Given the description of an element on the screen output the (x, y) to click on. 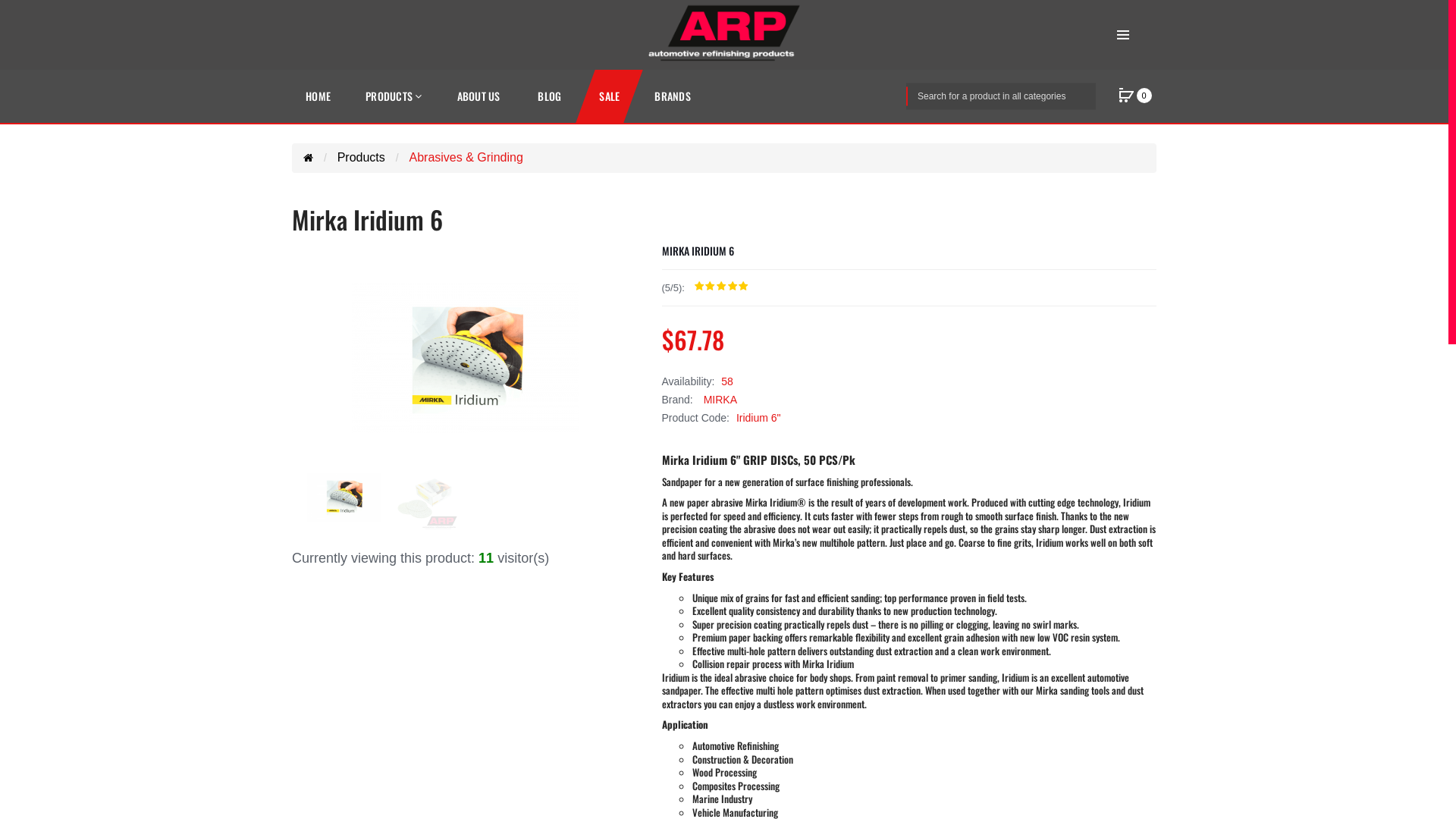
BLOG Element type: text (549, 95)
SALE Element type: text (609, 95)
Mirka Iridium 6 Element type: hover (424, 496)
0 Element type: text (1125, 95)
Abrasives & Grinding Element type: text (465, 156)
Arpshop Element type: hover (724, 32)
Mirka Iridium 6 Element type: hover (343, 496)
PRODUCTS Element type: text (393, 95)
Products Element type: text (361, 156)
ABOUT US Element type: text (477, 95)
HOME Element type: text (317, 95)
BRANDS Element type: text (672, 95)
MIRKA Element type: text (718, 399)
Mirka Iridium 6 Element type: hover (465, 357)
